Given the description of an element on the screen output the (x, y) to click on. 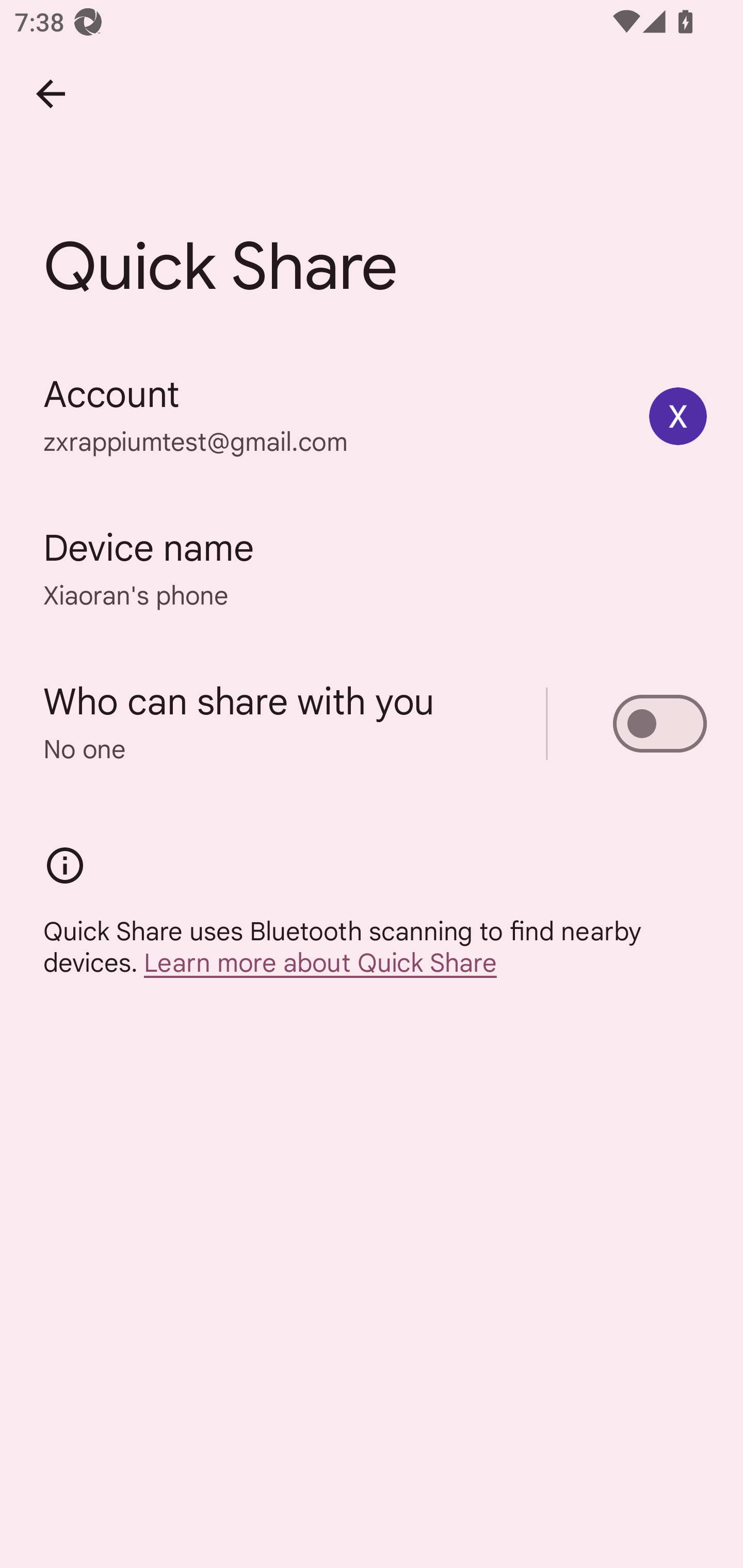
Back (50, 93)
Account zxrappiumtest@gmail.com (371, 415)
Device name Xiaoran's phone (371, 569)
Who can share with you No one (371, 723)
